Given the description of an element on the screen output the (x, y) to click on. 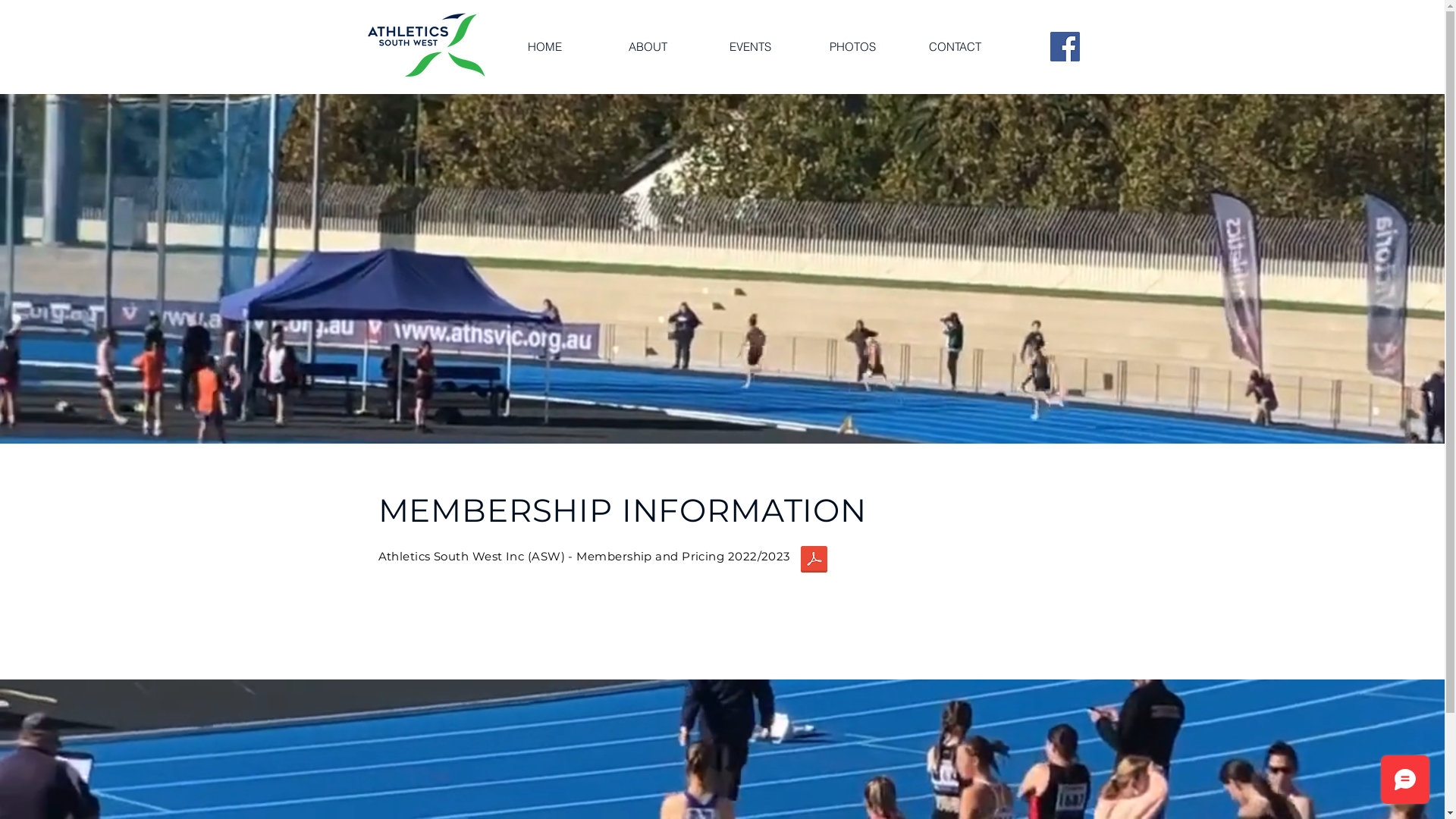
HOME Element type: text (544, 46)
ASW Pricing 2022-2023.pdf Element type: hover (813, 560)
ABOUT Element type: text (647, 46)
EVENTS Element type: text (750, 46)
CONTACT Element type: text (954, 46)
PHOTOS Element type: text (851, 46)
